Given the description of an element on the screen output the (x, y) to click on. 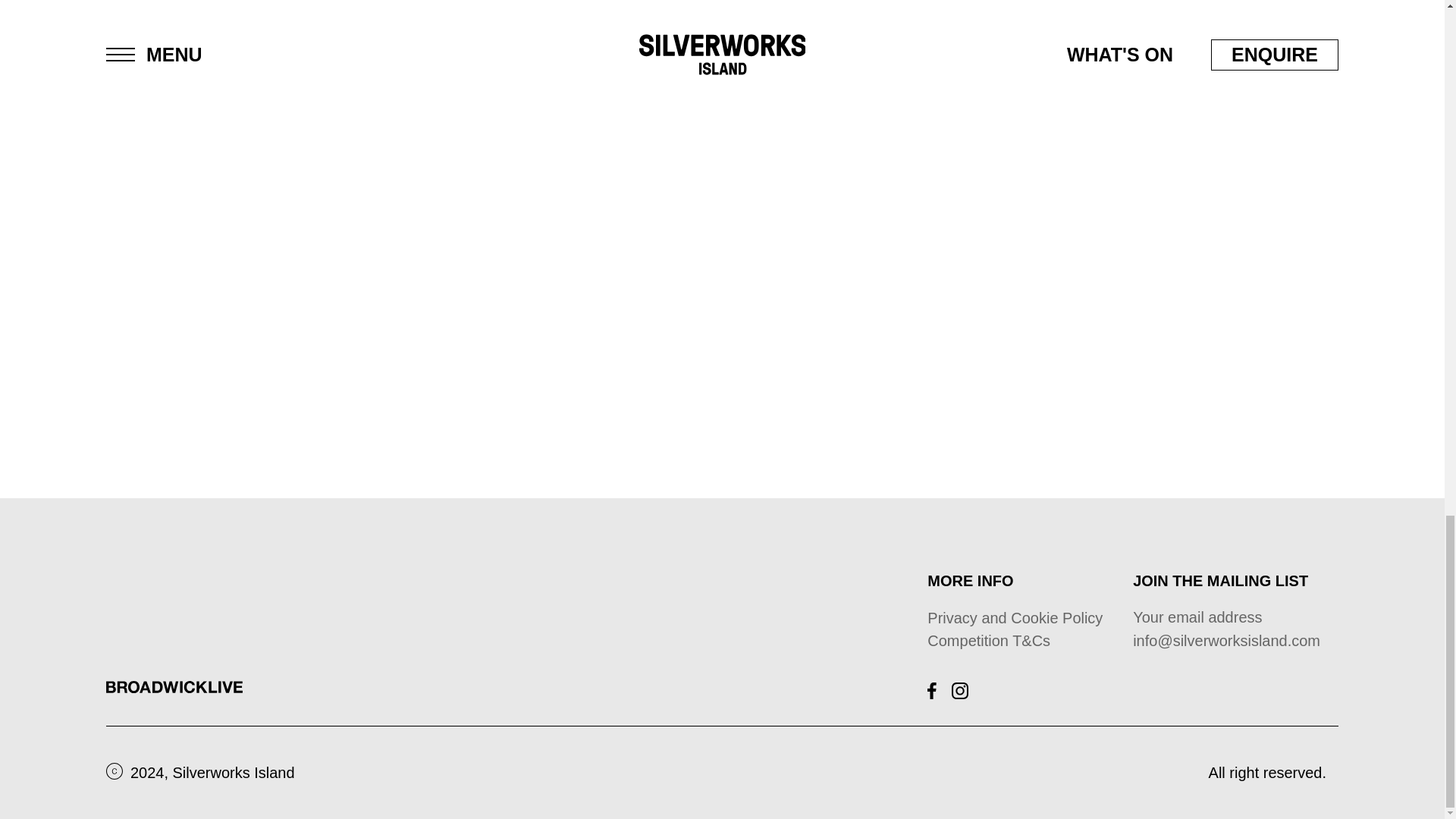
Privacy and Cookie Policy (1014, 617)
